Given the description of an element on the screen output the (x, y) to click on. 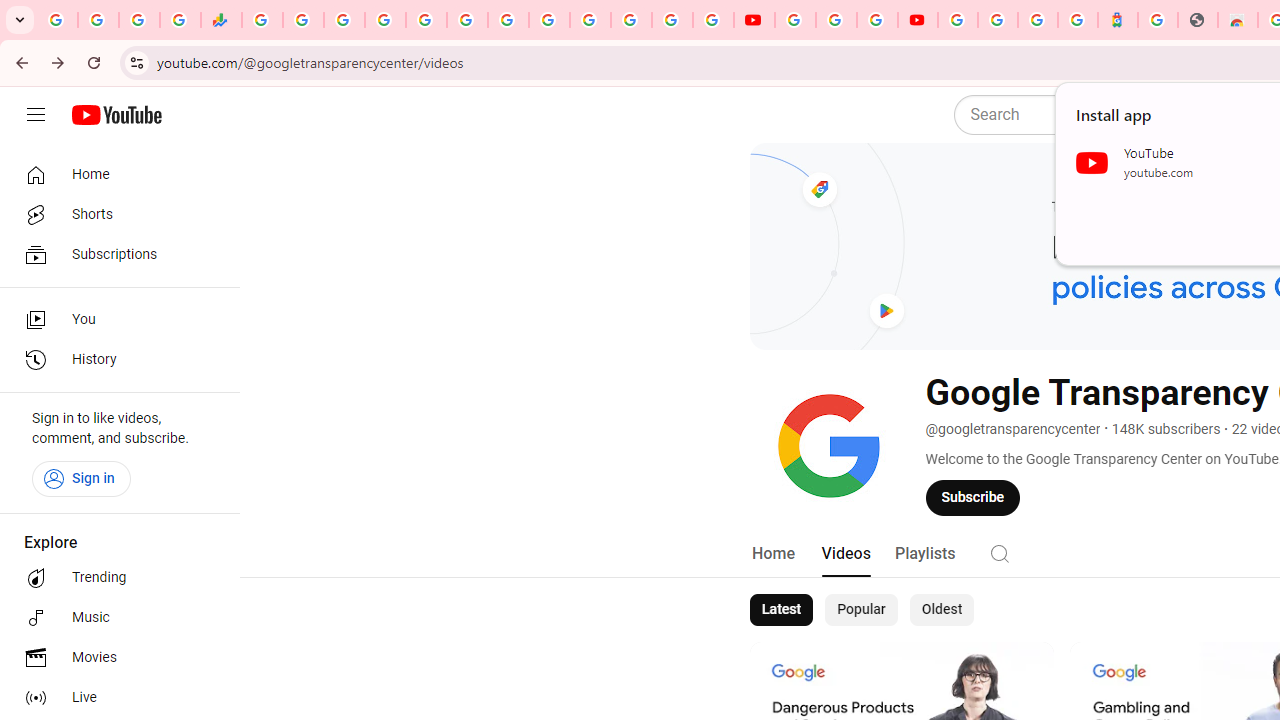
Latest (780, 609)
Android TV Policies and Guidelines - Transparency Center (507, 20)
Sign in - Google Accounts (671, 20)
Shorts (113, 214)
Popular (861, 609)
Sign in - Google Accounts (957, 20)
YouTube (753, 20)
Trending (113, 578)
